Given the description of an element on the screen output the (x, y) to click on. 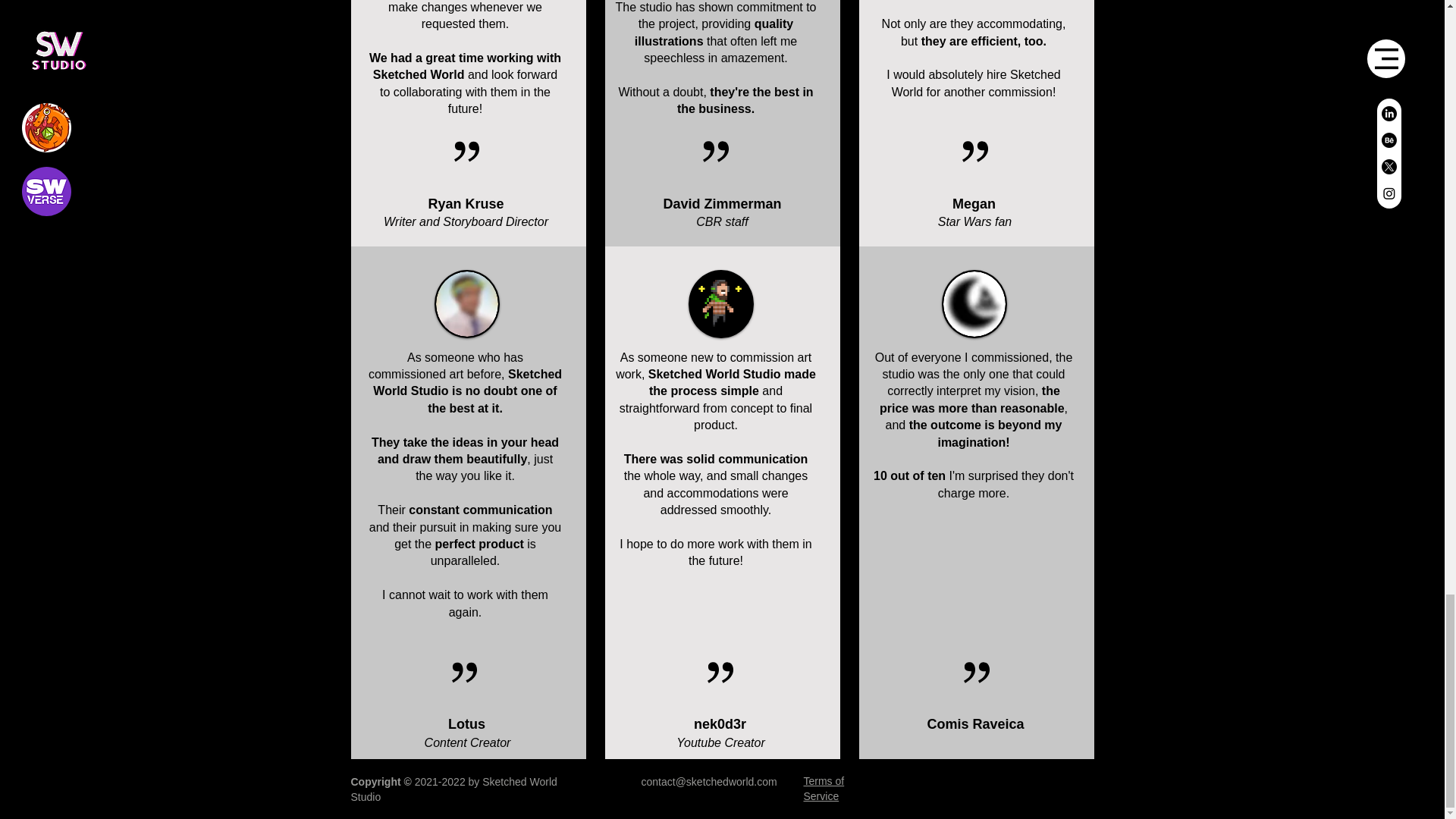
Terms of Service (823, 788)
